Given the description of an element on the screen output the (x, y) to click on. 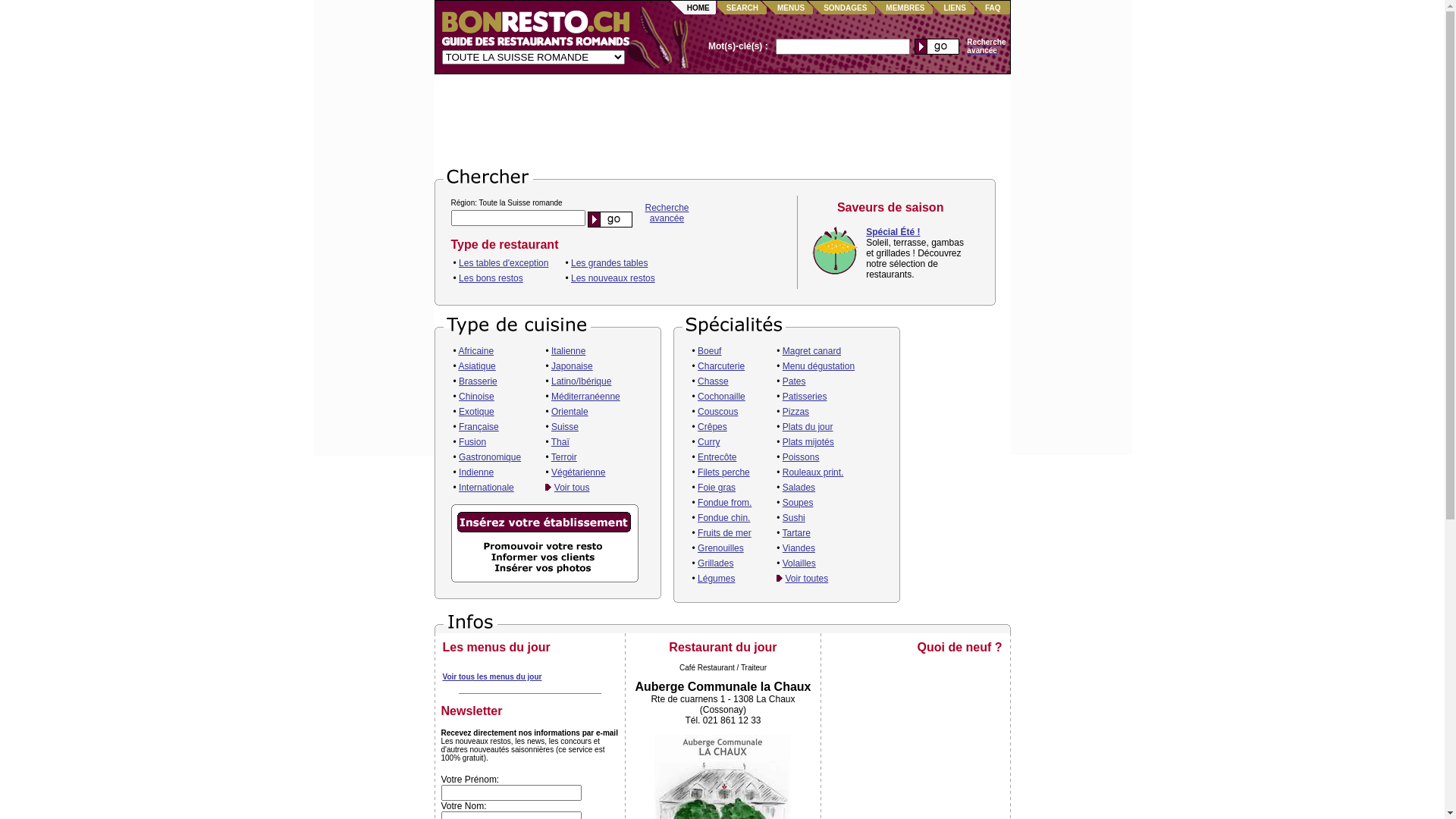
Fondue chin. Element type: text (723, 517)
Magret canard Element type: text (811, 350)
Les bons restos Element type: text (490, 278)
Viandes Element type: text (798, 547)
Sushi Element type: text (793, 517)
Tartare Element type: text (796, 532)
Salades Element type: text (798, 487)
Brasserie Element type: text (477, 381)
Italienne Element type: text (568, 350)
SONDAGES Element type: text (844, 7)
Filets perche Element type: text (723, 472)
Curry Element type: text (708, 441)
Plats du jour Element type: text (807, 426)
Exotique Element type: text (476, 411)
Les nouveaux restos Element type: text (613, 278)
Boeuf Element type: text (709, 350)
Fusion Element type: text (472, 441)
Indienne Element type: text (475, 472)
Les tables d'exception Element type: text (503, 262)
Voir tous Element type: text (571, 487)
Fruits de mer Element type: text (724, 532)
HOME Element type: text (698, 7)
Orientale Element type: text (569, 411)
Suisse Element type: text (564, 426)
LIENS Element type: text (954, 7)
Soupes Element type: text (797, 502)
Terroir Element type: text (564, 456)
Cochonaille Element type: text (721, 396)
Grillades Element type: text (715, 563)
Chasse Element type: text (712, 381)
Pates Element type: text (794, 381)
SEARCH Element type: text (742, 7)
Foie gras Element type: text (716, 487)
Pizzas Element type: text (795, 411)
Voir toutes Element type: text (806, 578)
Voir tous les menus du jour Element type: text (492, 676)
MEMBRES Element type: text (904, 7)
Couscous Element type: text (717, 411)
FAQ Element type: text (993, 7)
Chinoise Element type: text (476, 396)
Charcuterie Element type: text (720, 365)
Rouleaux print. Element type: text (813, 472)
Volailles Element type: text (798, 563)
Fondue from. Element type: text (724, 502)
Les grandes tables Element type: text (609, 262)
Patisseries Element type: text (804, 396)
Poissons Element type: text (800, 456)
Africaine Element type: text (475, 350)
Asiatique Element type: text (476, 365)
MENUS Element type: text (790, 7)
Internationale Element type: text (486, 487)
Gastronomique Element type: text (489, 456)
Grenouilles Element type: text (720, 547)
Japonaise Element type: text (572, 365)
